Given the description of an element on the screen output the (x, y) to click on. 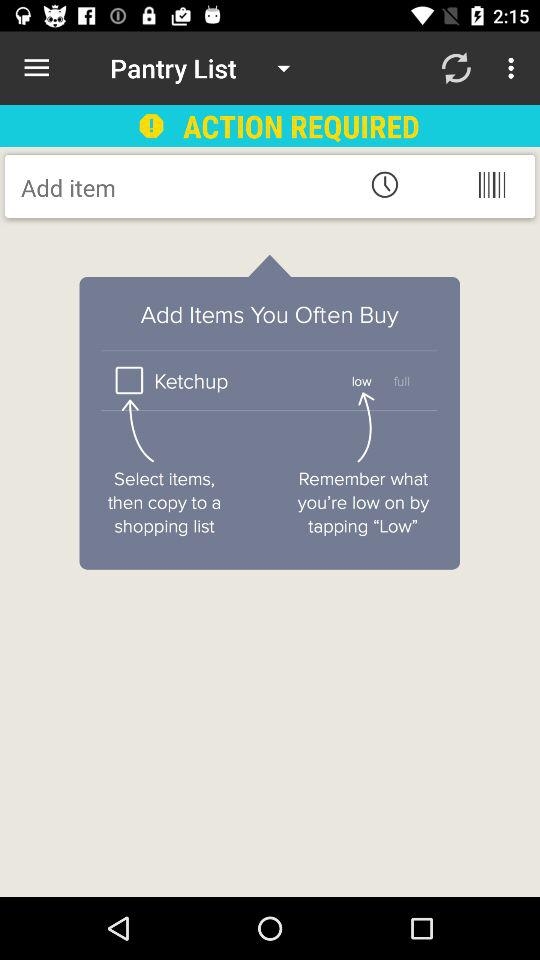
go to menu (491, 184)
